Given the description of an element on the screen output the (x, y) to click on. 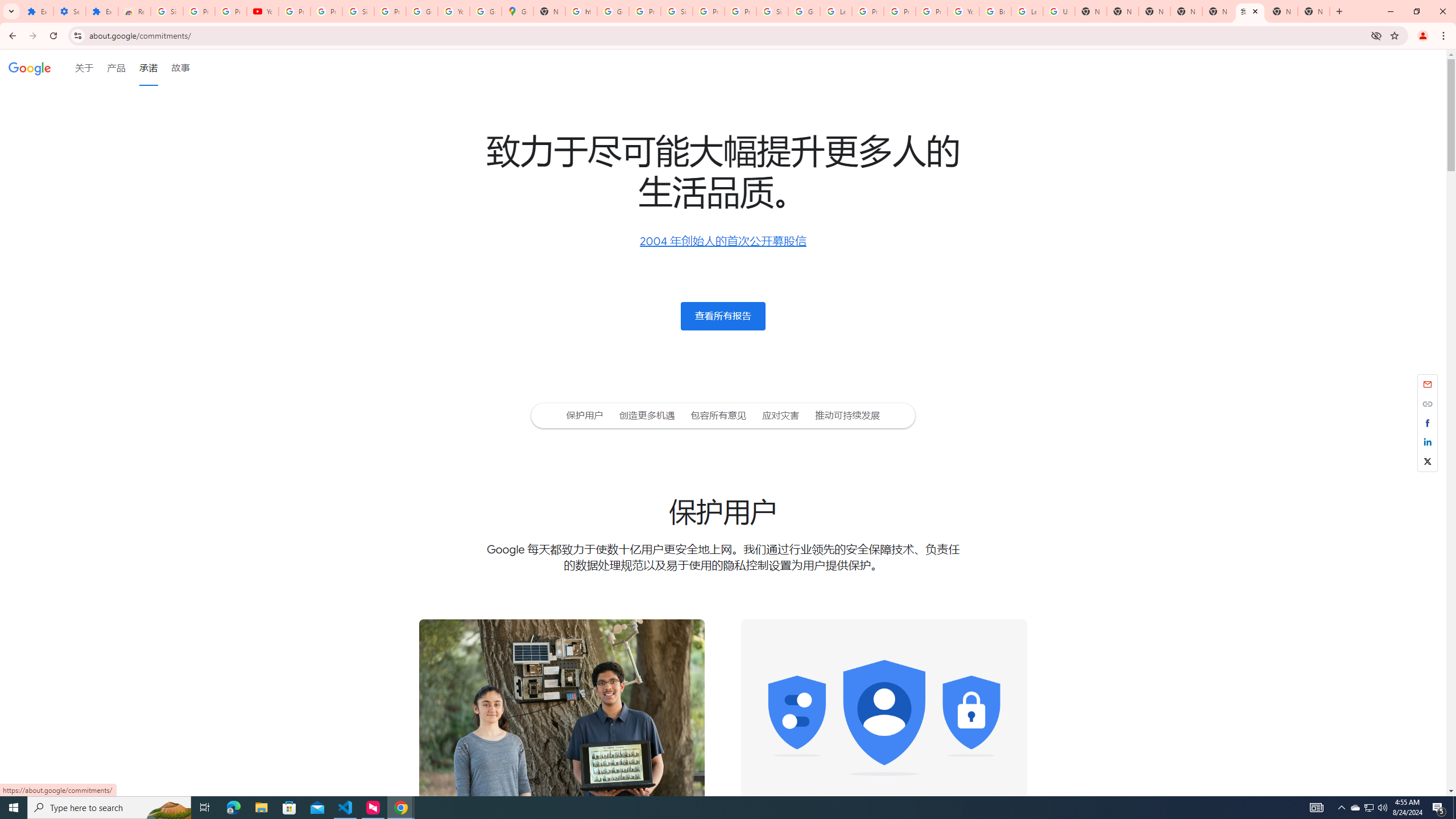
Sign in - Google Accounts (358, 11)
YouTube (453, 11)
New Tab (1154, 11)
